Given the description of an element on the screen output the (x, y) to click on. 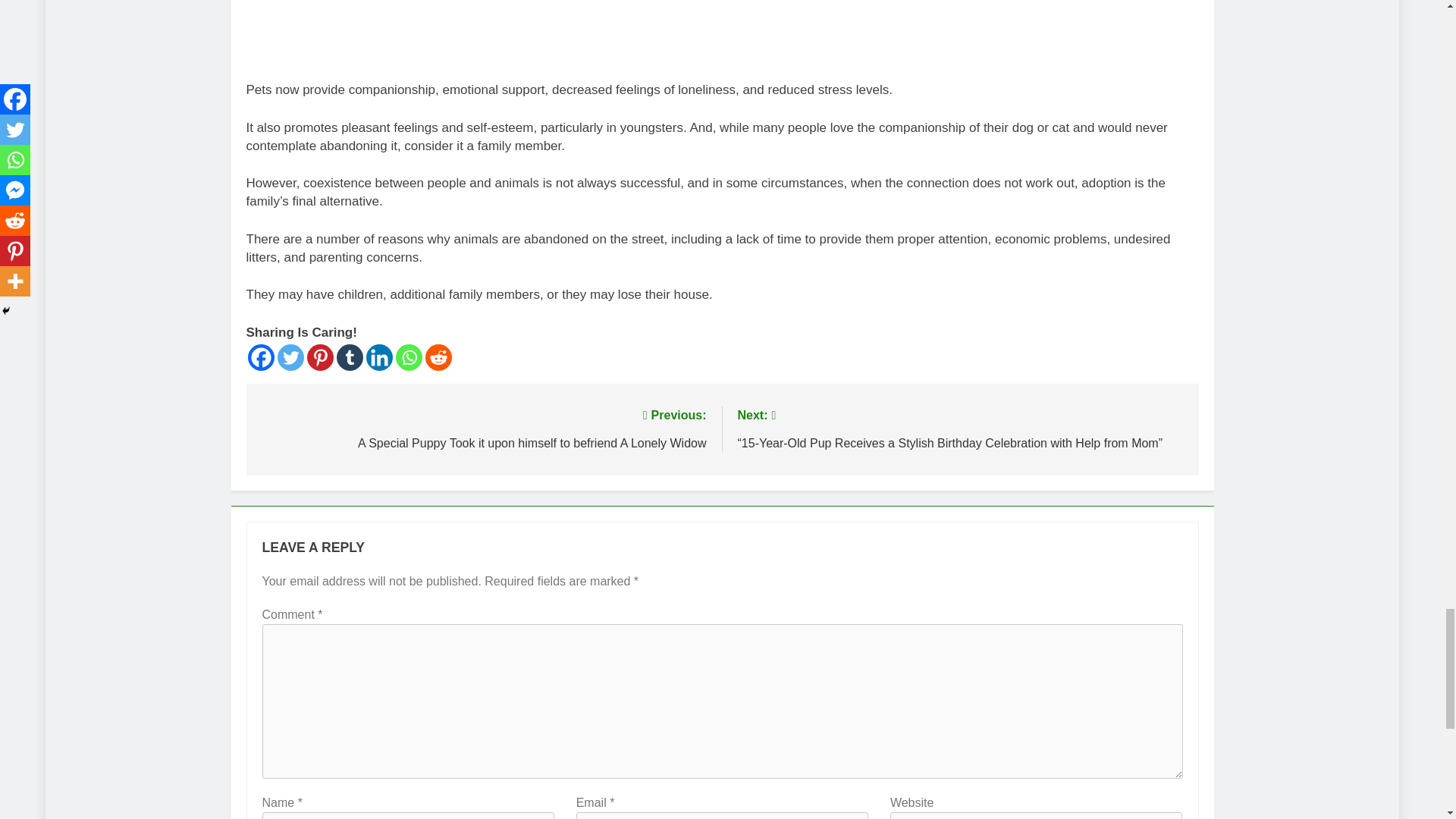
Tumblr (349, 357)
Pinterest (319, 357)
Reddit (438, 357)
Facebook (260, 357)
Linkedin (378, 357)
Twitter (291, 357)
Whatsapp (409, 357)
